Given the description of an element on the screen output the (x, y) to click on. 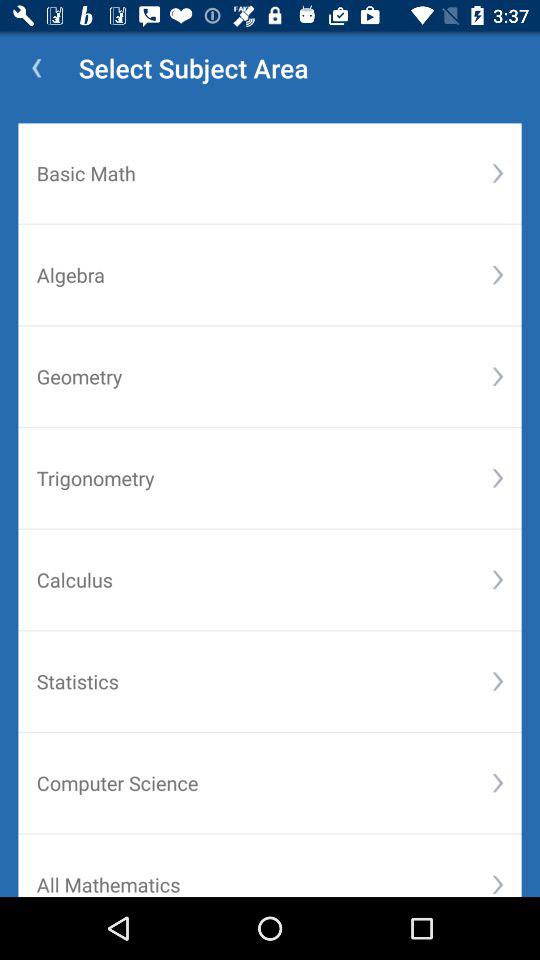
press app to the left of select subject area app (36, 68)
